Given the description of an element on the screen output the (x, y) to click on. 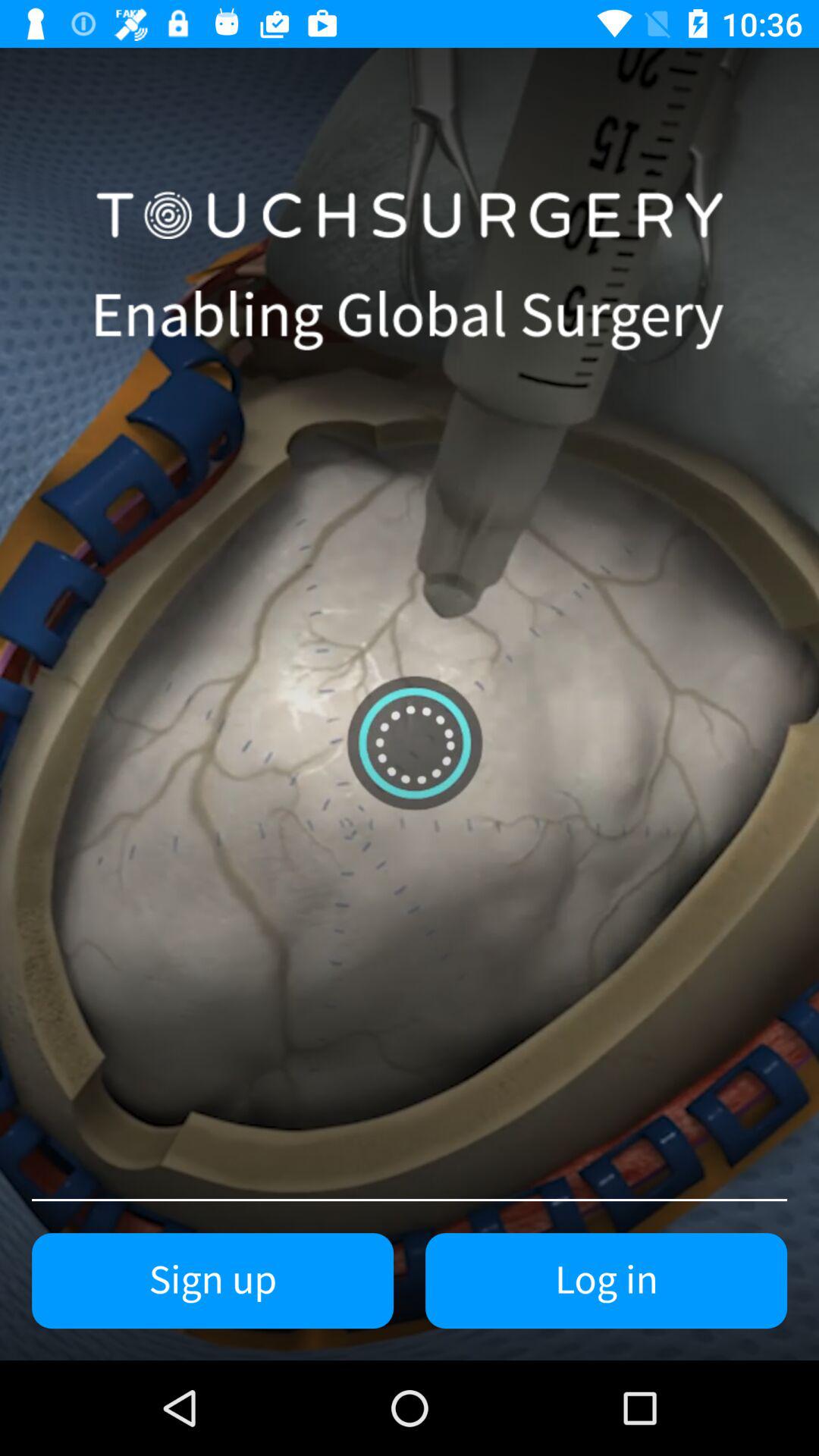
click sign up icon (212, 1280)
